Given the description of an element on the screen output the (x, y) to click on. 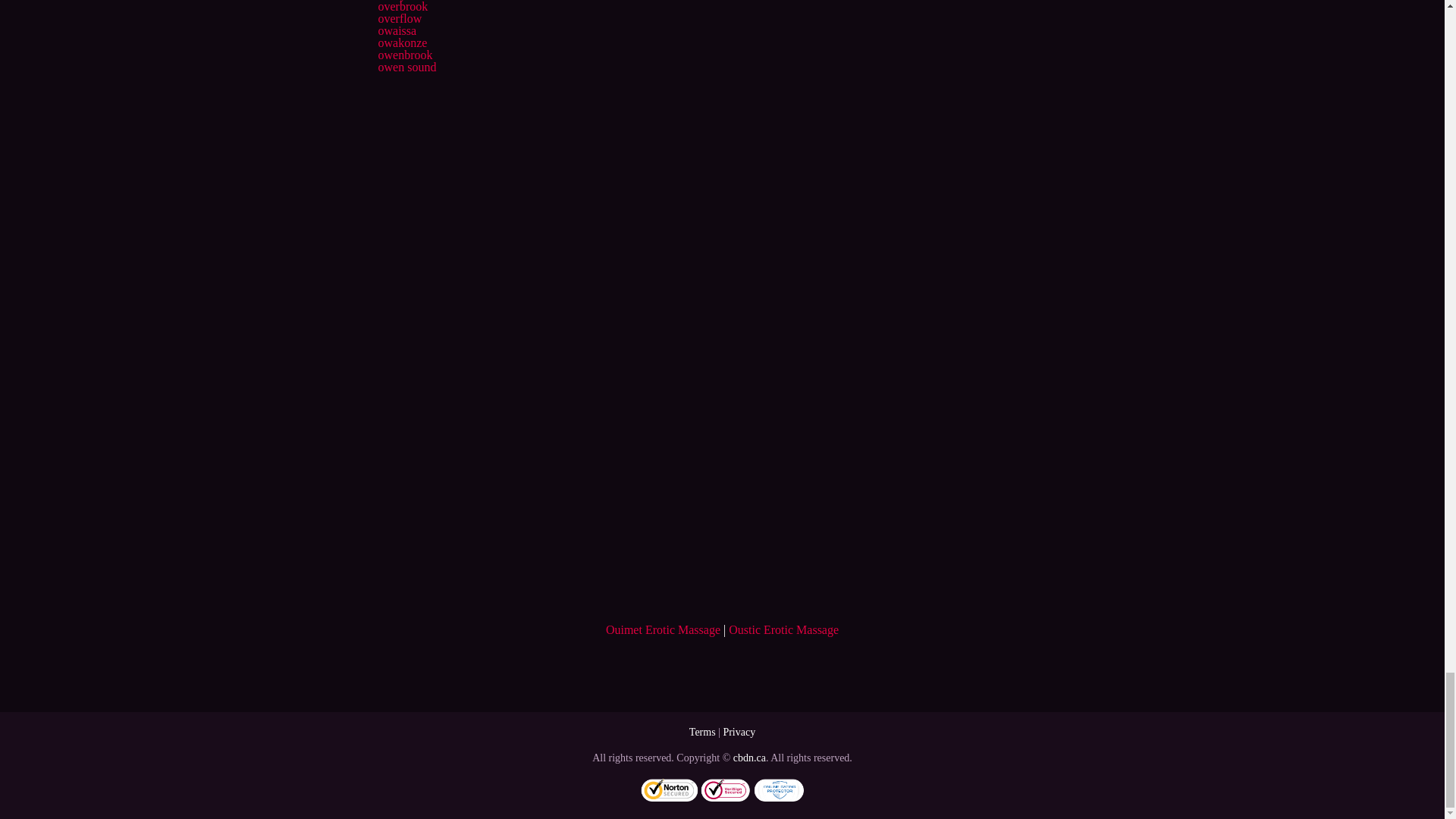
Oustic Erotic Massage (783, 629)
cbdn.ca (749, 757)
overbrook (402, 6)
Privacy (738, 731)
owenbrook (404, 54)
Privacy (738, 731)
owakonze (401, 42)
owaissa (396, 30)
Terms (702, 731)
Ouimet Erotic Massage (662, 629)
Terms (702, 731)
owen sound (406, 66)
overflow (399, 18)
